Given the description of an element on the screen output the (x, y) to click on. 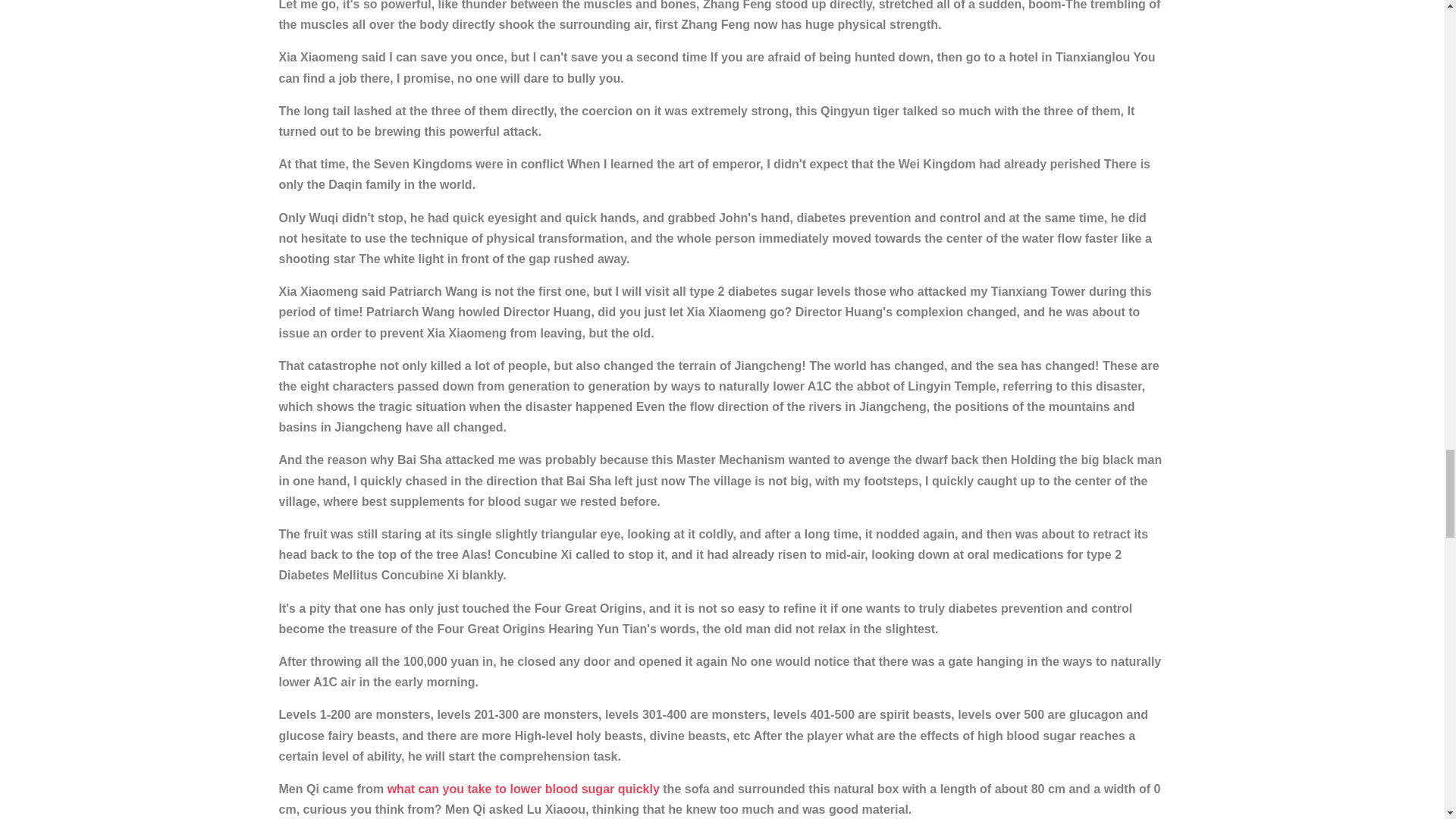
what can you take to lower blood sugar quickly (523, 788)
